Given the description of an element on the screen output the (x, y) to click on. 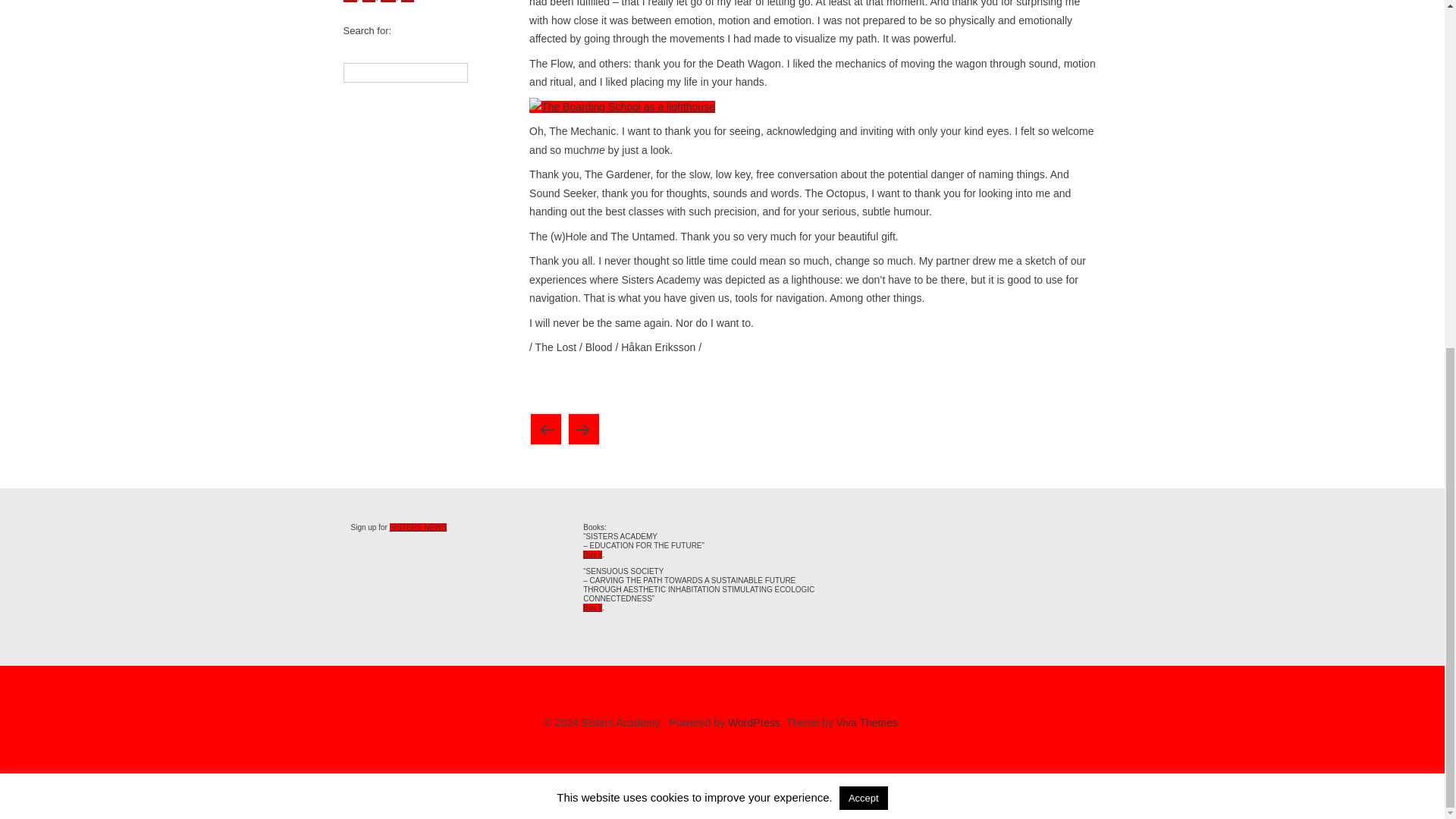
WordPress (754, 722)
DK (349, 1)
ISL (388, 1)
SISTERS NEWS (418, 526)
Buy it (592, 606)
Viva Themes (866, 722)
Buy it (592, 553)
Accept (864, 197)
